Given the description of an element on the screen output the (x, y) to click on. 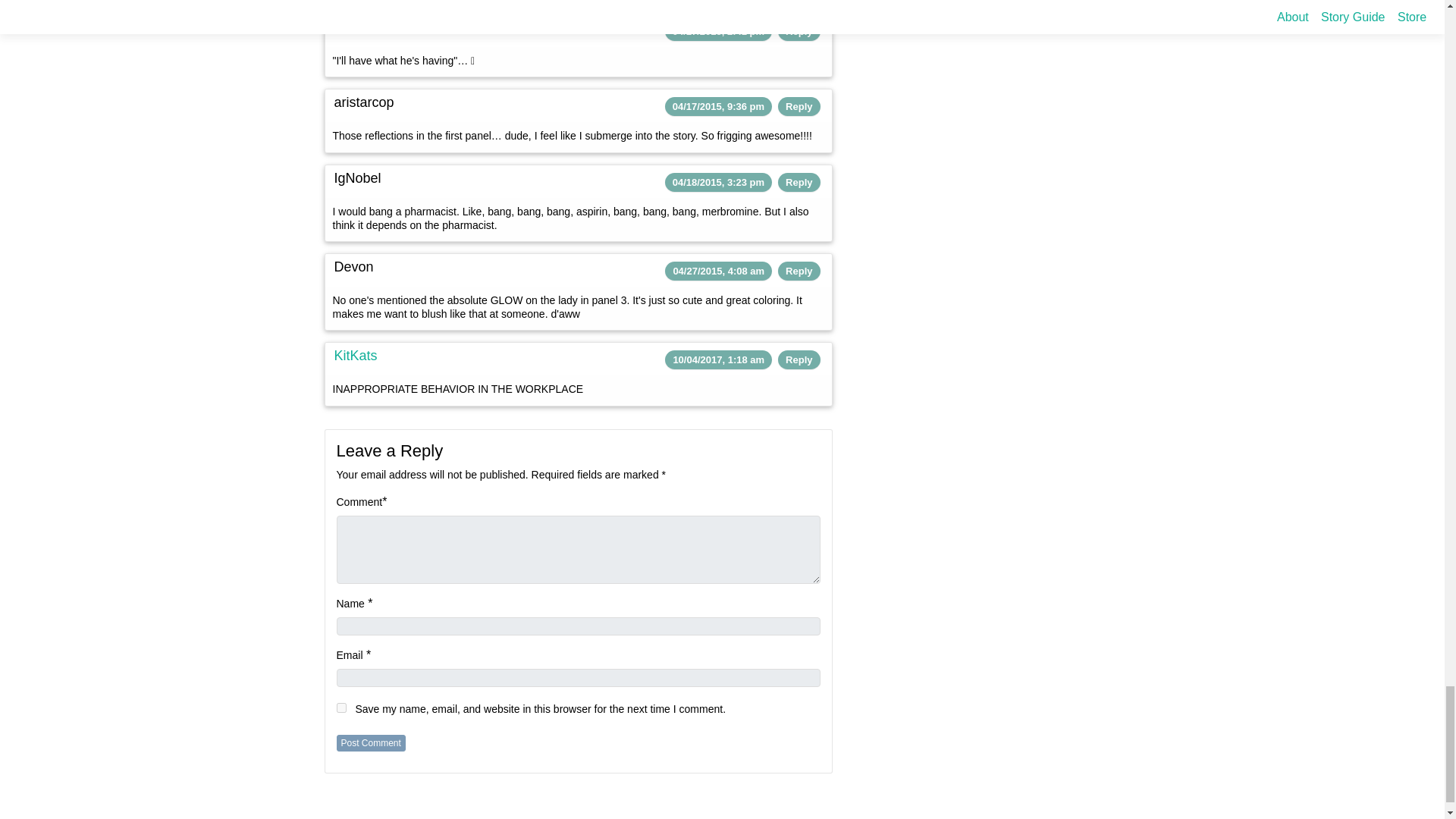
Post Comment (371, 742)
yes (341, 707)
